Given the description of an element on the screen output the (x, y) to click on. 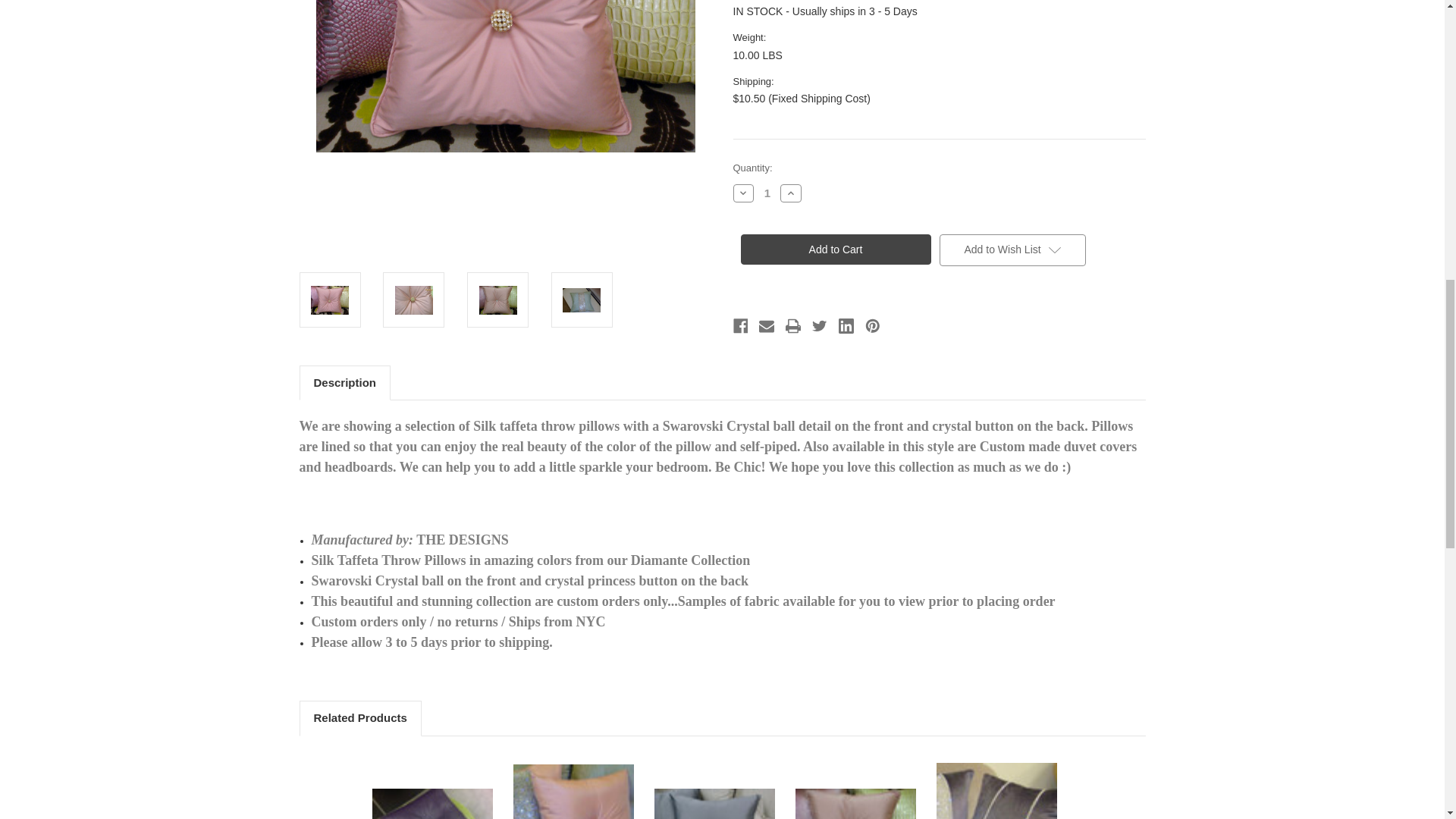
Luxury Throw Pillow, Carnaby Street Bling Knife Edge (572, 791)
Luxury Throw Pillow, Chelsea Bling Throw pillow (996, 790)
1 (767, 192)
Add to Cart (834, 249)
